Given the description of an element on the screen output the (x, y) to click on. 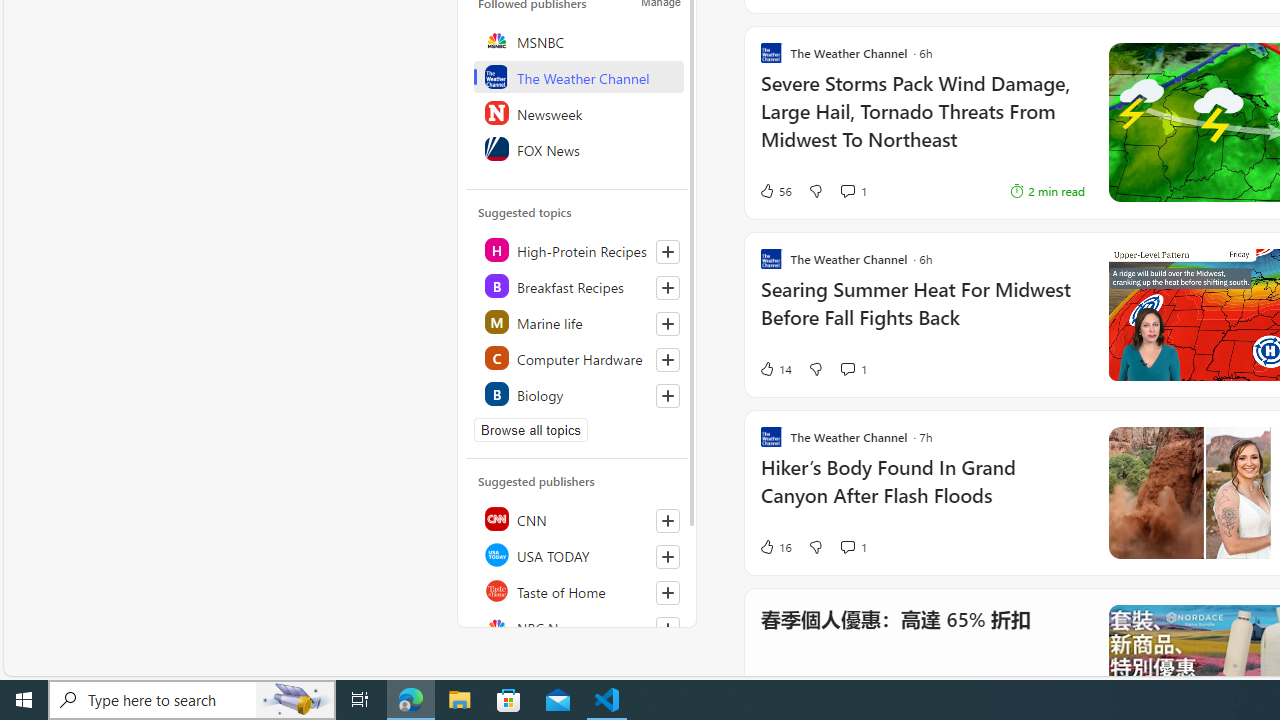
Follow this source (667, 628)
MSNBC (578, 40)
Newsweek (578, 112)
Follow this topic (667, 395)
Follow this source (667, 628)
14 Like (775, 368)
Searing Summer Heat For Midwest Before Fall Fights Back (922, 313)
CNN (578, 518)
